Given the description of an element on the screen output the (x, y) to click on. 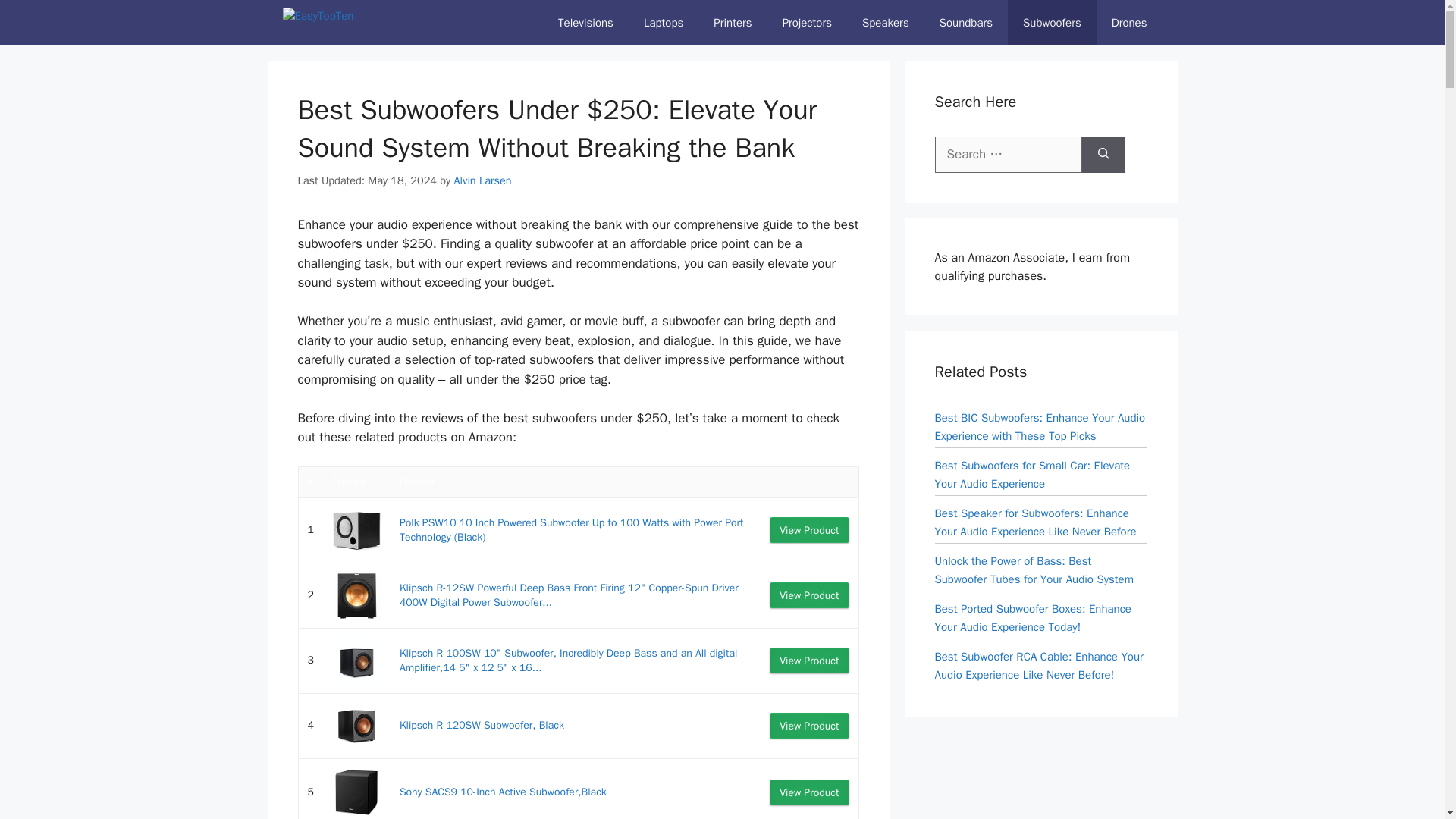
Klipsch R-120SW Subwoofer, Black (481, 725)
View Product (809, 725)
View Product (809, 595)
Televisions (585, 22)
Projectors (807, 22)
Best Subwoofers for Small Car: Elevate Your Audio Experience (1031, 473)
Drones (1128, 22)
Subwoofers (1051, 22)
View Product (809, 792)
Alvin Larsen (481, 180)
Laptops (663, 22)
Sony SACS9 10-Inch Active Subwoofer,Black (502, 791)
